Given the description of an element on the screen output the (x, y) to click on. 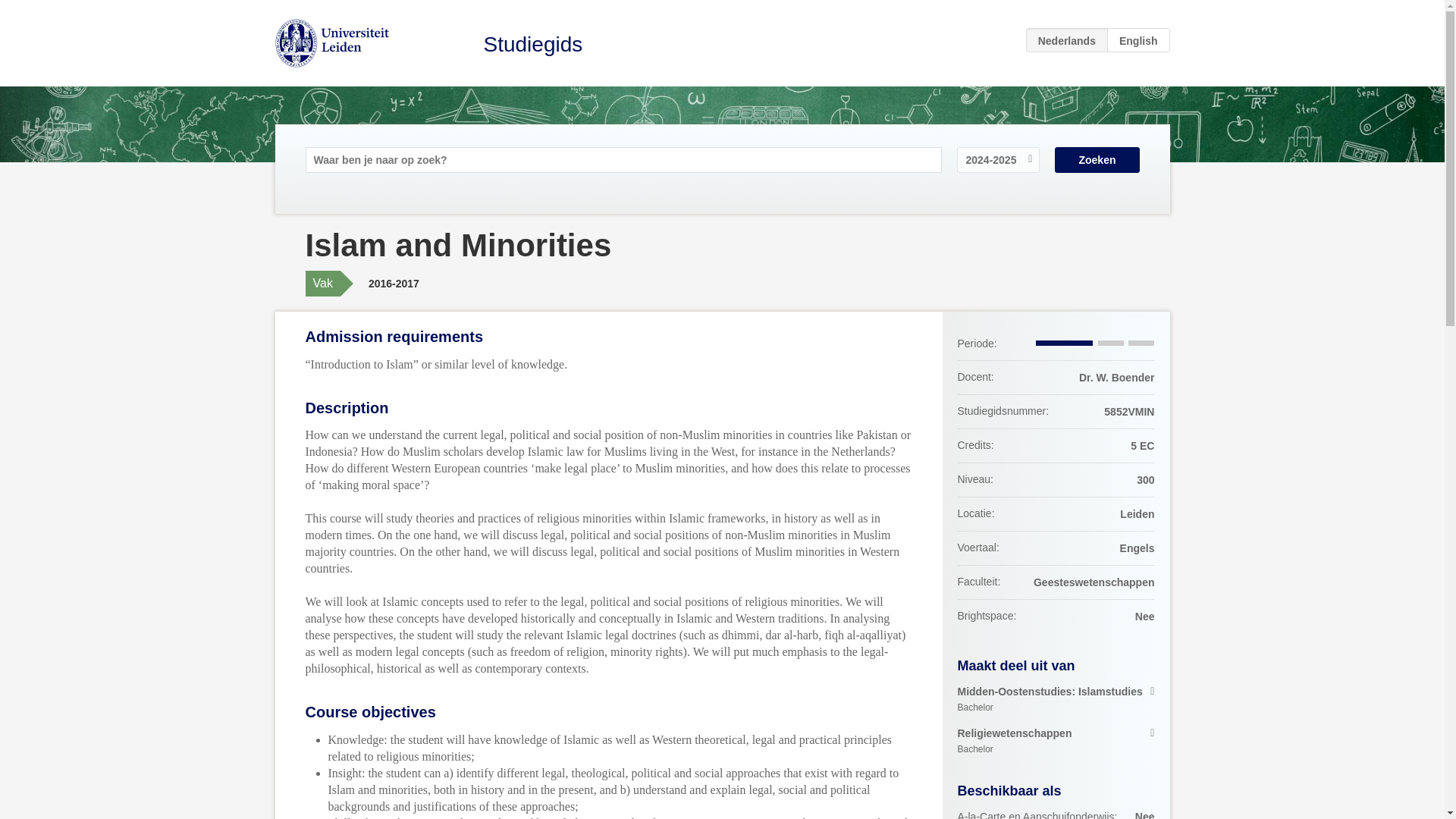
EN (1055, 699)
Zoeken (1138, 39)
Studiegids (1055, 741)
